Given the description of an element on the screen output the (x, y) to click on. 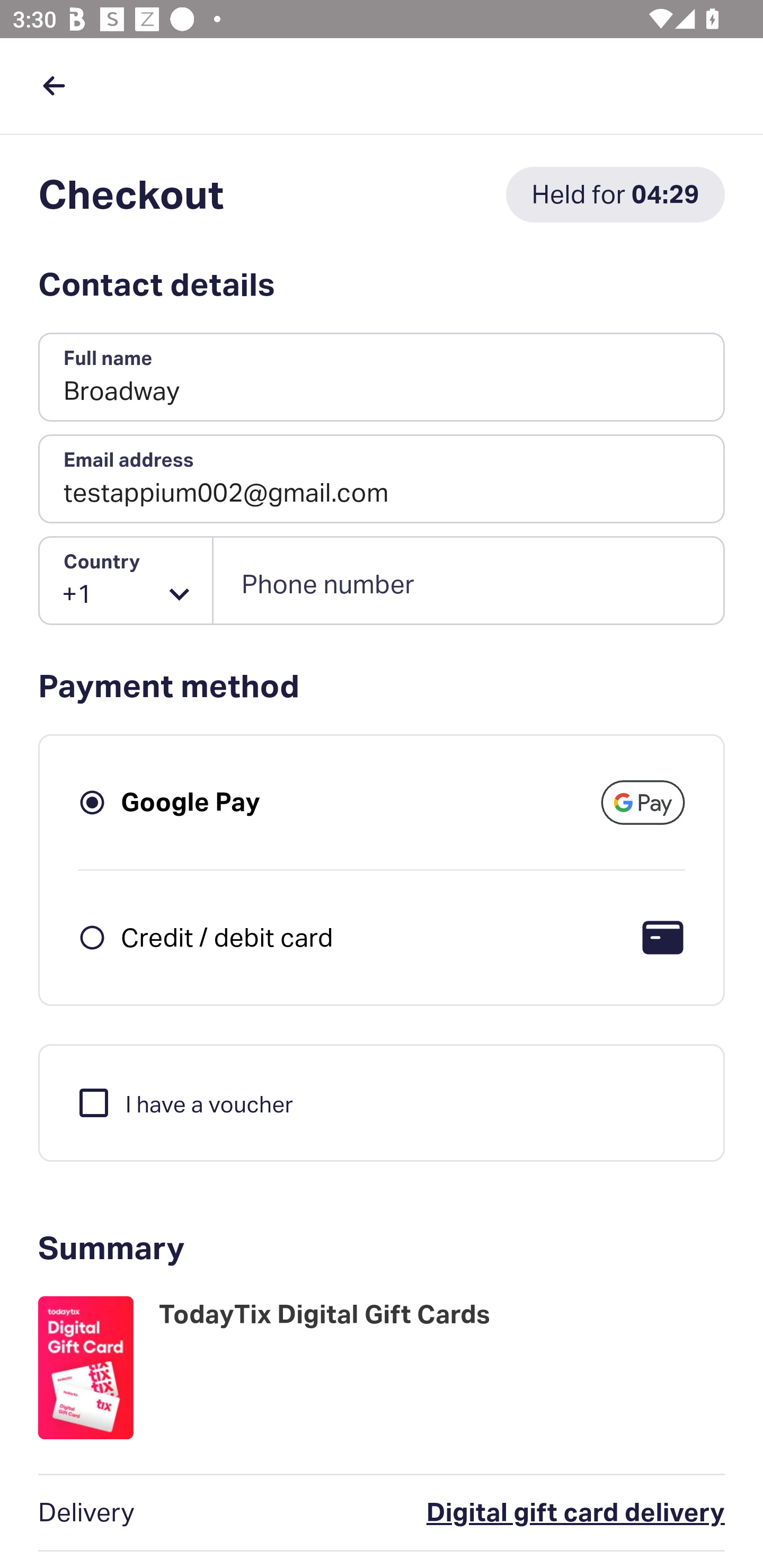
back button (53, 85)
Broadway (381, 377)
testappium002@gmail.com (381, 478)
  +1 (126, 580)
Google Pay (190, 802)
Credit / debit card (227, 936)
I have a voucher (183, 1101)
Digital gift card delivery (495, 1512)
